Given the description of an element on the screen output the (x, y) to click on. 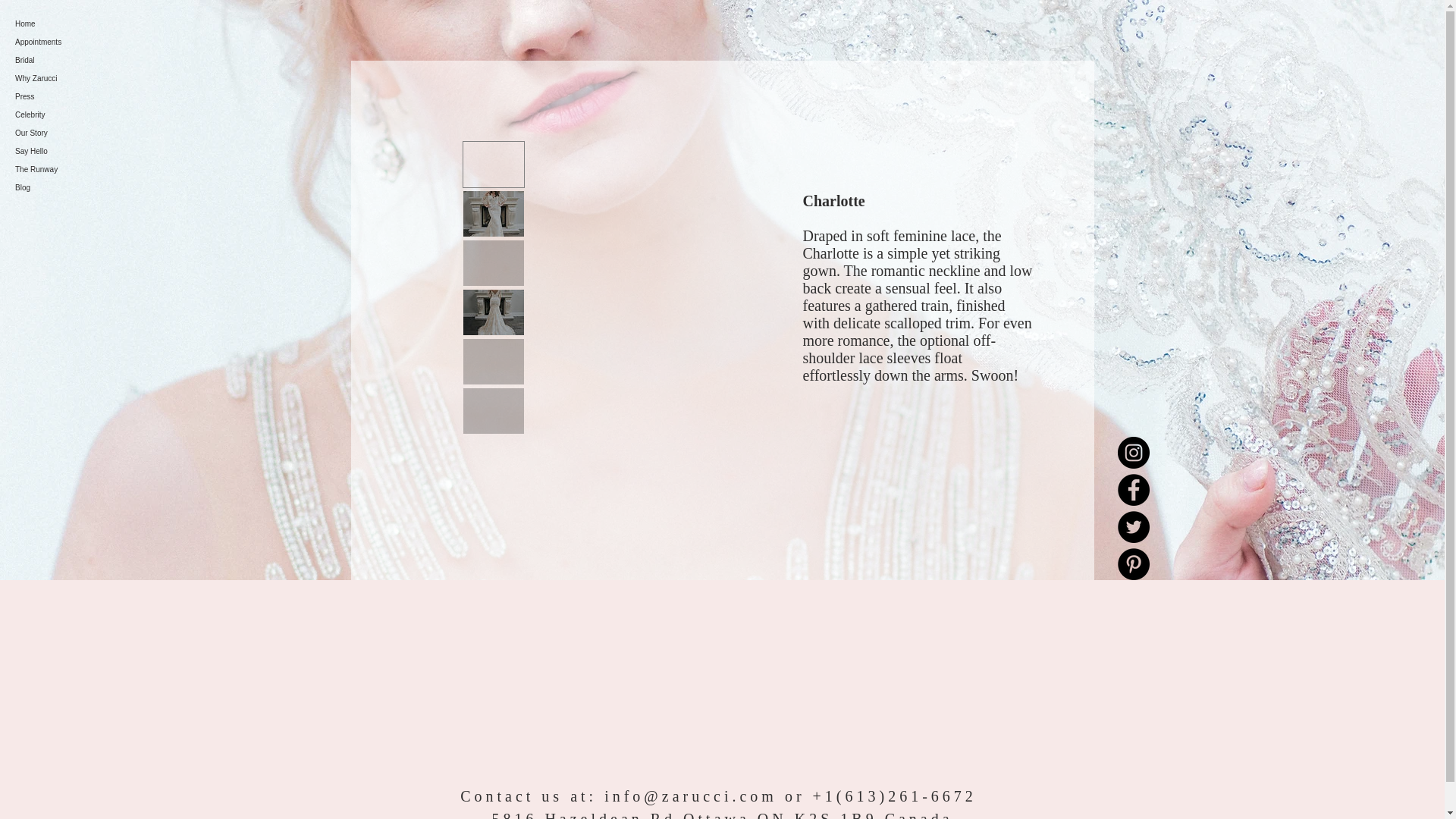
Our Story (71, 133)
Why Zarucci (71, 78)
Press (71, 96)
Say Hello (71, 151)
Blog (71, 188)
The Runway (71, 169)
Celebrity (71, 115)
Bridal (71, 60)
Home (71, 24)
Appointments (71, 42)
